Given the description of an element on the screen output the (x, y) to click on. 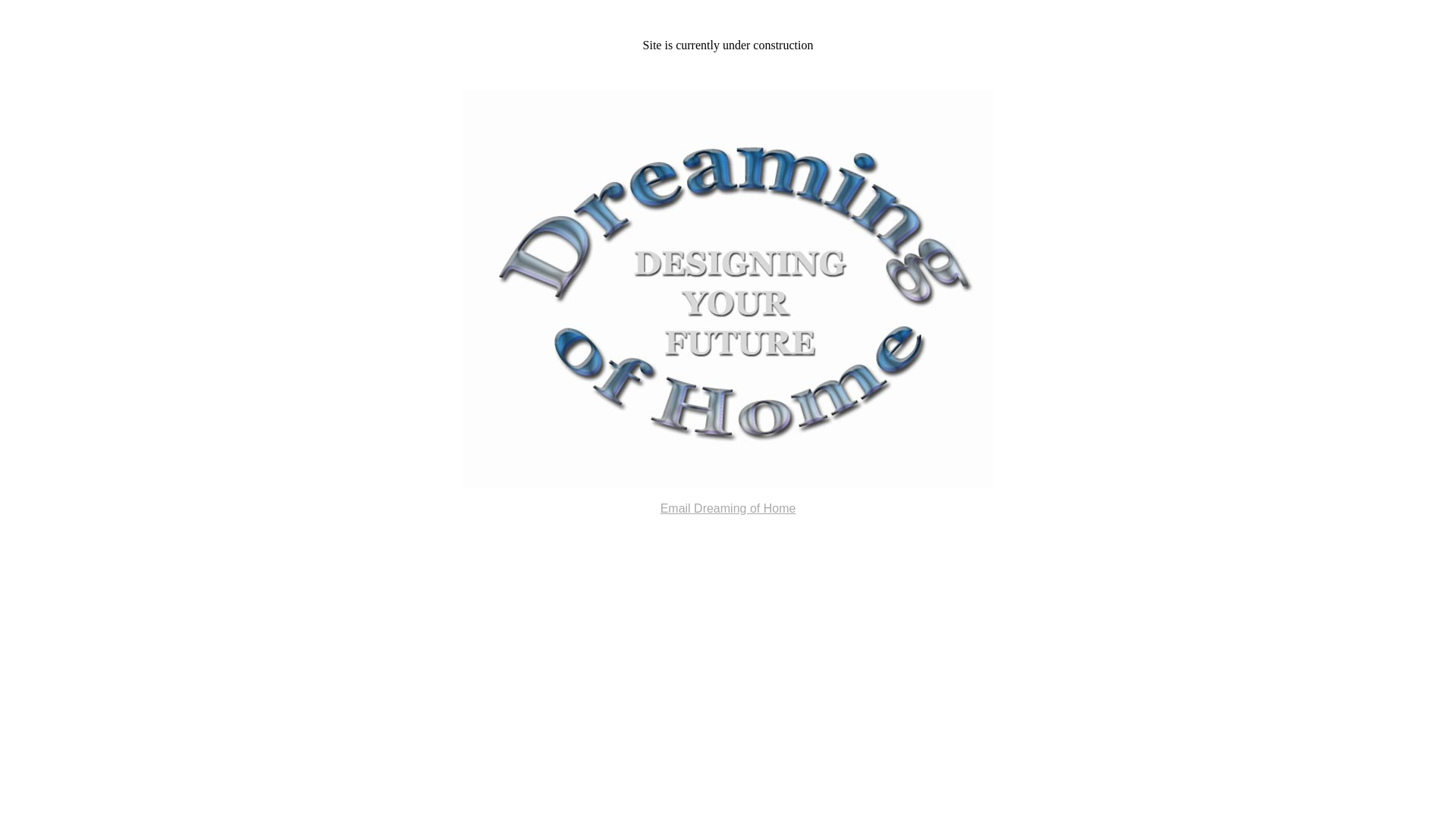
Email Dreaming of Home Element type: text (727, 495)
